Given the description of an element on the screen output the (x, y) to click on. 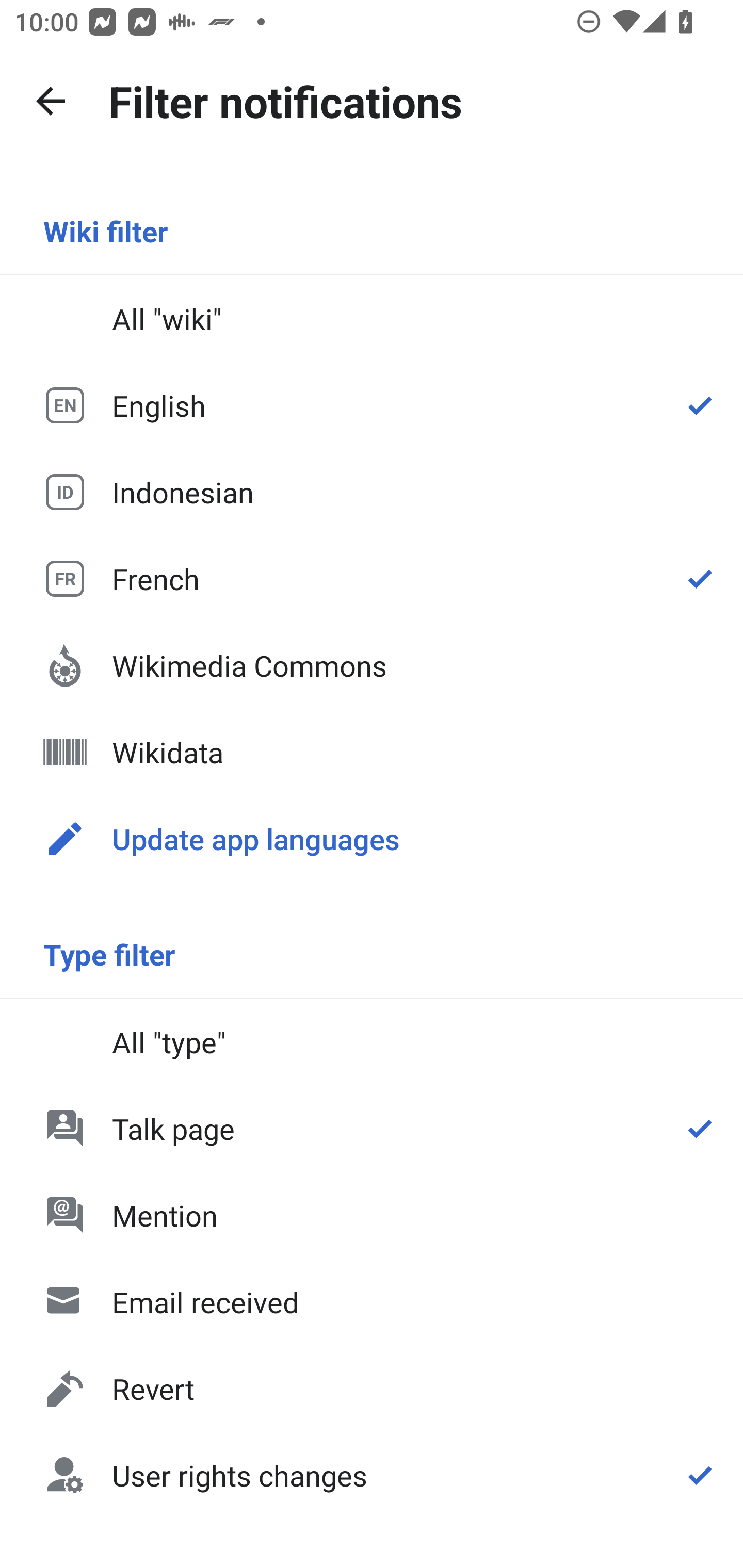
Navigate up (50, 101)
All "wiki" (371, 318)
EN English (371, 405)
ID Indonesian (371, 491)
FR French (371, 578)
Wikimedia Commons (371, 665)
Wikidata (371, 751)
Update app languages (371, 837)
All "type" (371, 1041)
Talk page (371, 1128)
Mention (371, 1215)
Email received (371, 1302)
Revert (371, 1388)
User rights changes (371, 1474)
